Given the description of an element on the screen output the (x, y) to click on. 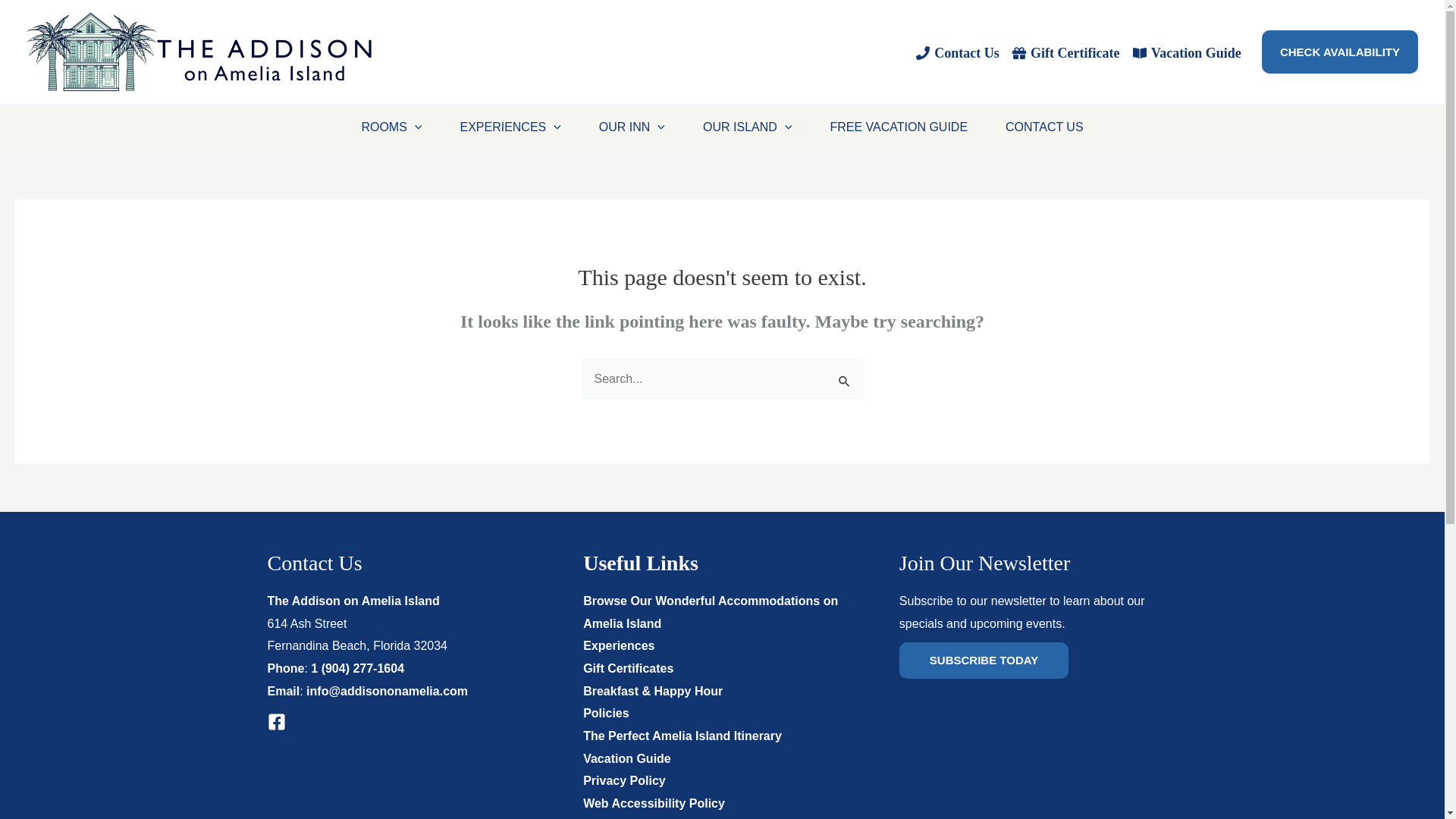
CHECK AVAILABILITY (1340, 52)
CONTACT US (1044, 126)
Vacation Guide (1186, 52)
OUR ISLAND (747, 126)
EXPERIENCES (510, 126)
Contact Us (957, 52)
Gift Certificate (1066, 52)
OUR INN (631, 126)
Search (844, 378)
Search (844, 378)
FREE VACATION GUIDE (898, 126)
ROOMS (391, 126)
